Given the description of an element on the screen output the (x, y) to click on. 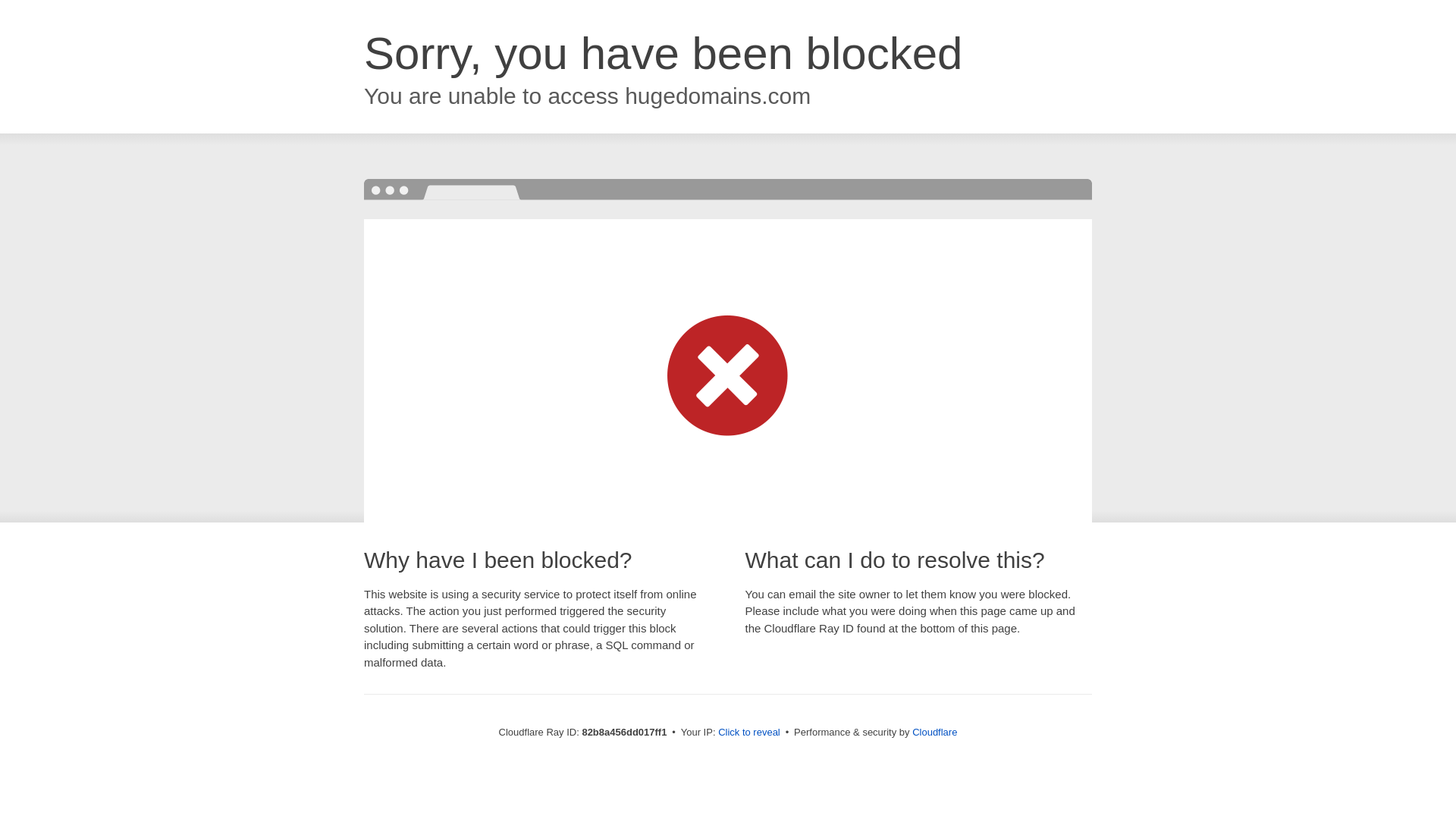
Click to reveal Element type: text (749, 732)
Cloudflare Element type: text (934, 731)
